Given the description of an element on the screen output the (x, y) to click on. 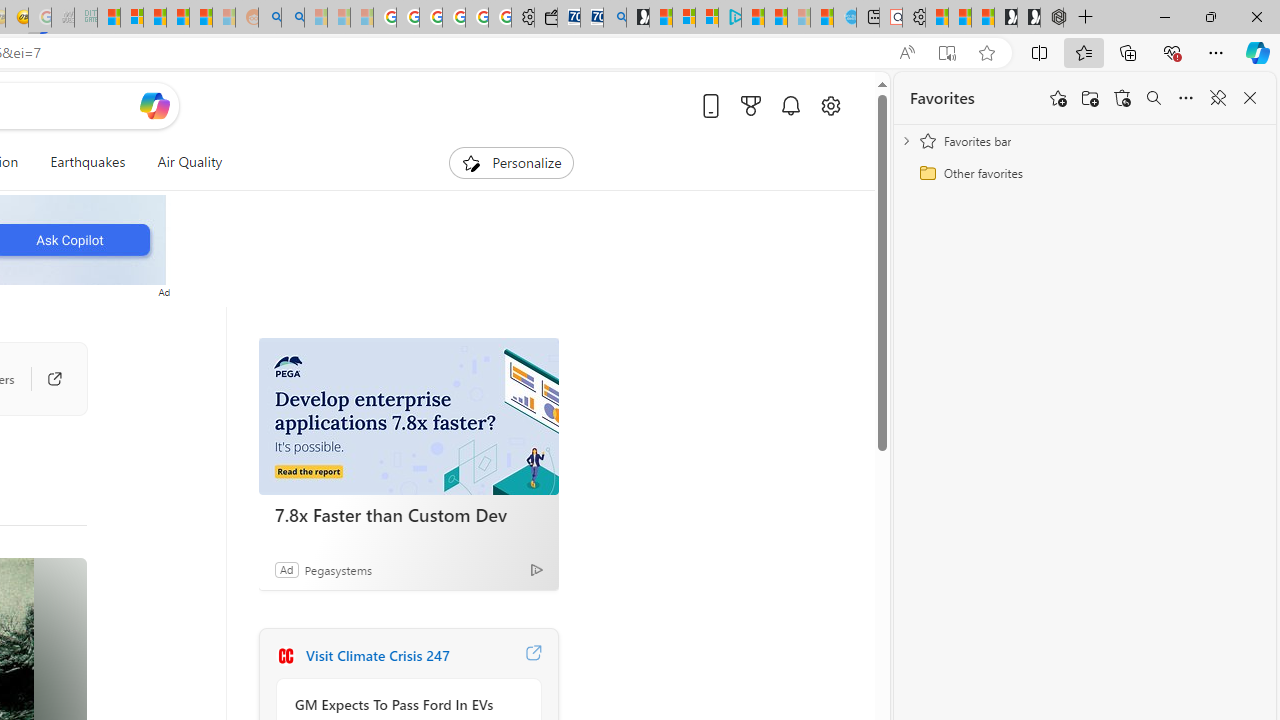
Student Loan Update: Forgiveness Program Ends This Month (200, 17)
7.8x Faster than Custom Dev (407, 515)
Search favorites (1153, 98)
Wallet (545, 17)
